Given the description of an element on the screen output the (x, y) to click on. 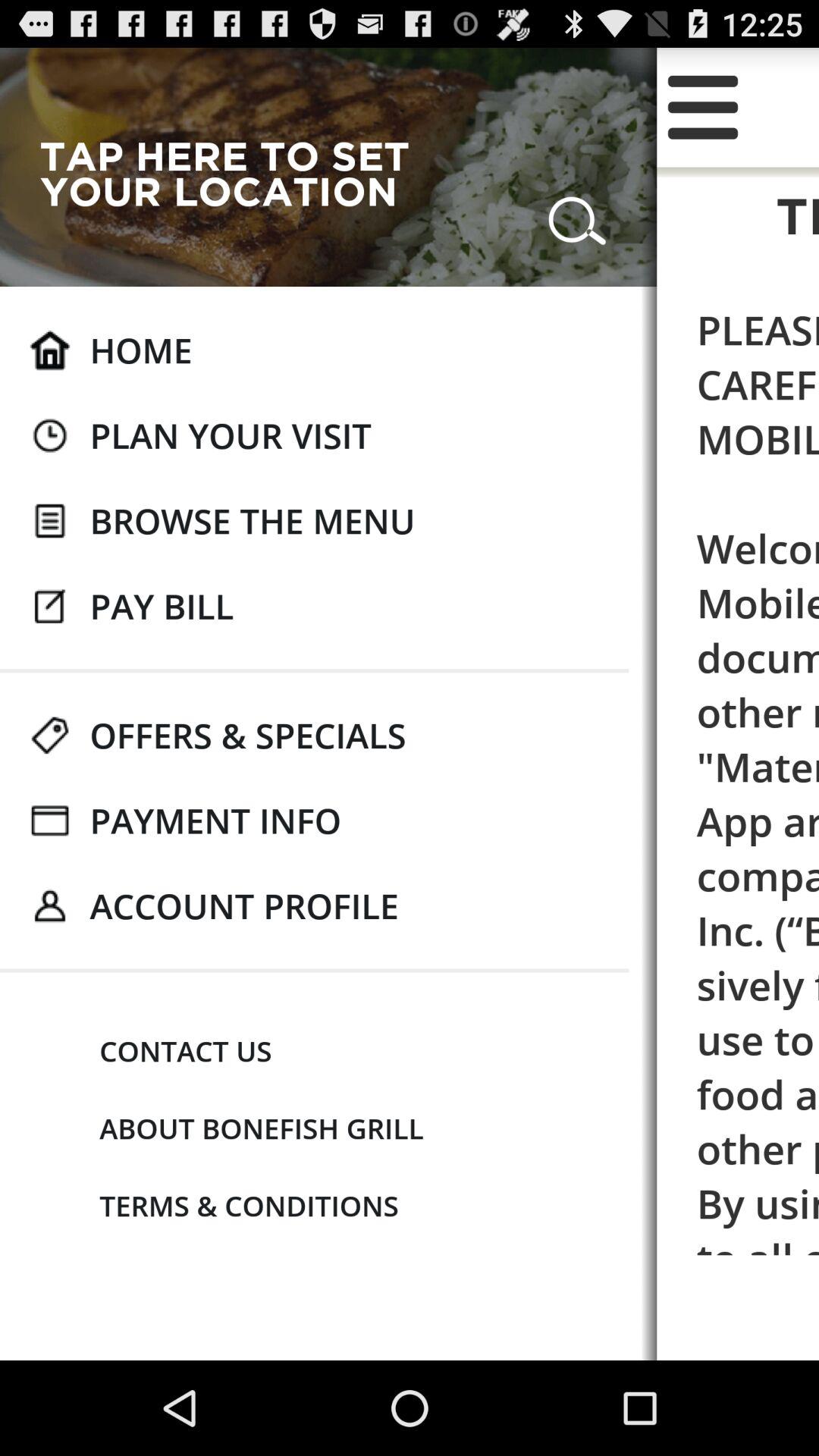
jump to the tap here to app (236, 172)
